Given the description of an element on the screen output the (x, y) to click on. 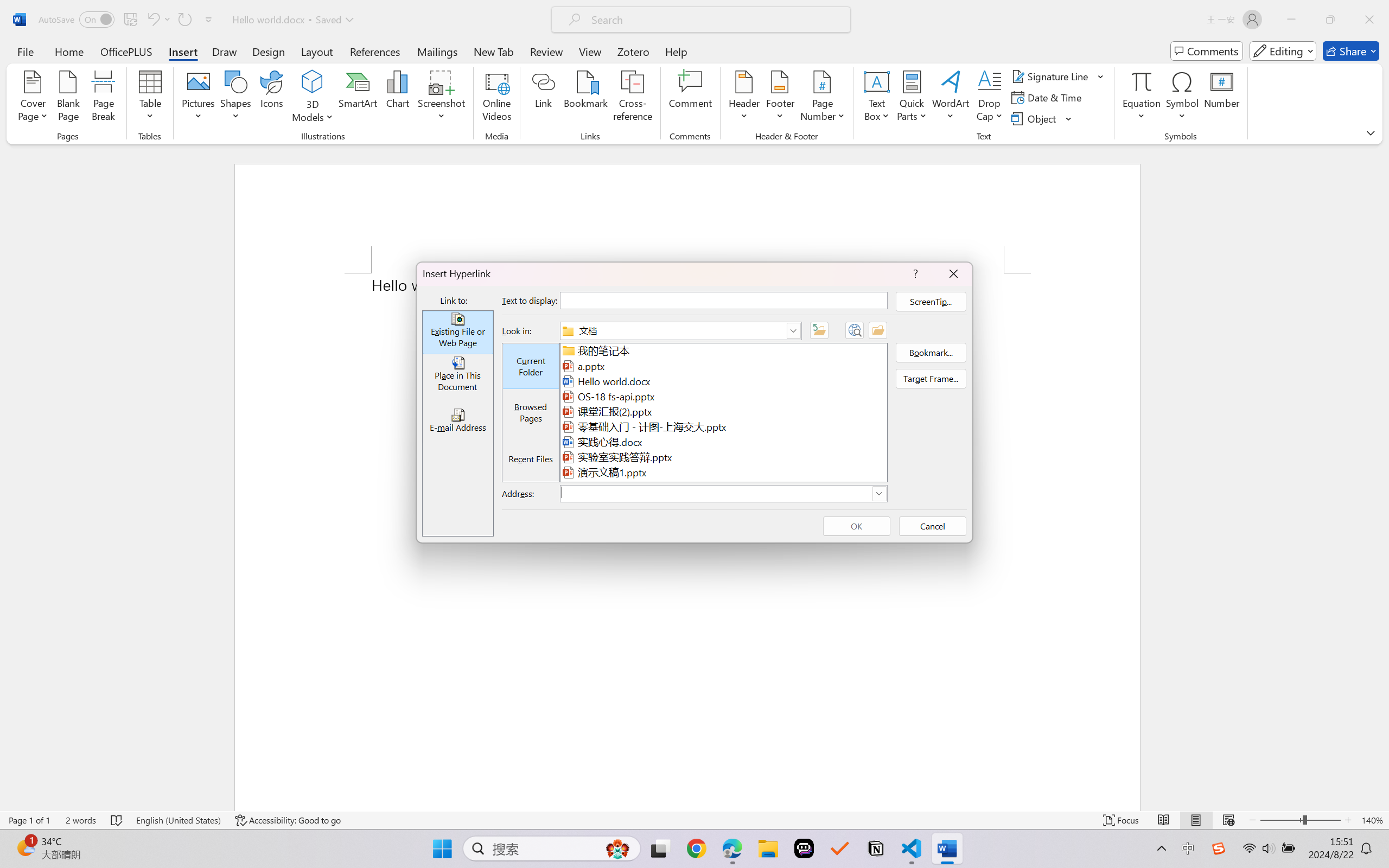
Up One Folder (819, 330)
Read Mode (1163, 819)
Online Videos... (496, 97)
Class: NetUIScrollBar (1382, 477)
View (589, 51)
Google Chrome (696, 848)
Share (1350, 51)
Address: (723, 493)
Quick Parts (912, 97)
New Tab (493, 51)
Can't Undo (158, 19)
Browse the Web (853, 330)
